Given the description of an element on the screen output the (x, y) to click on. 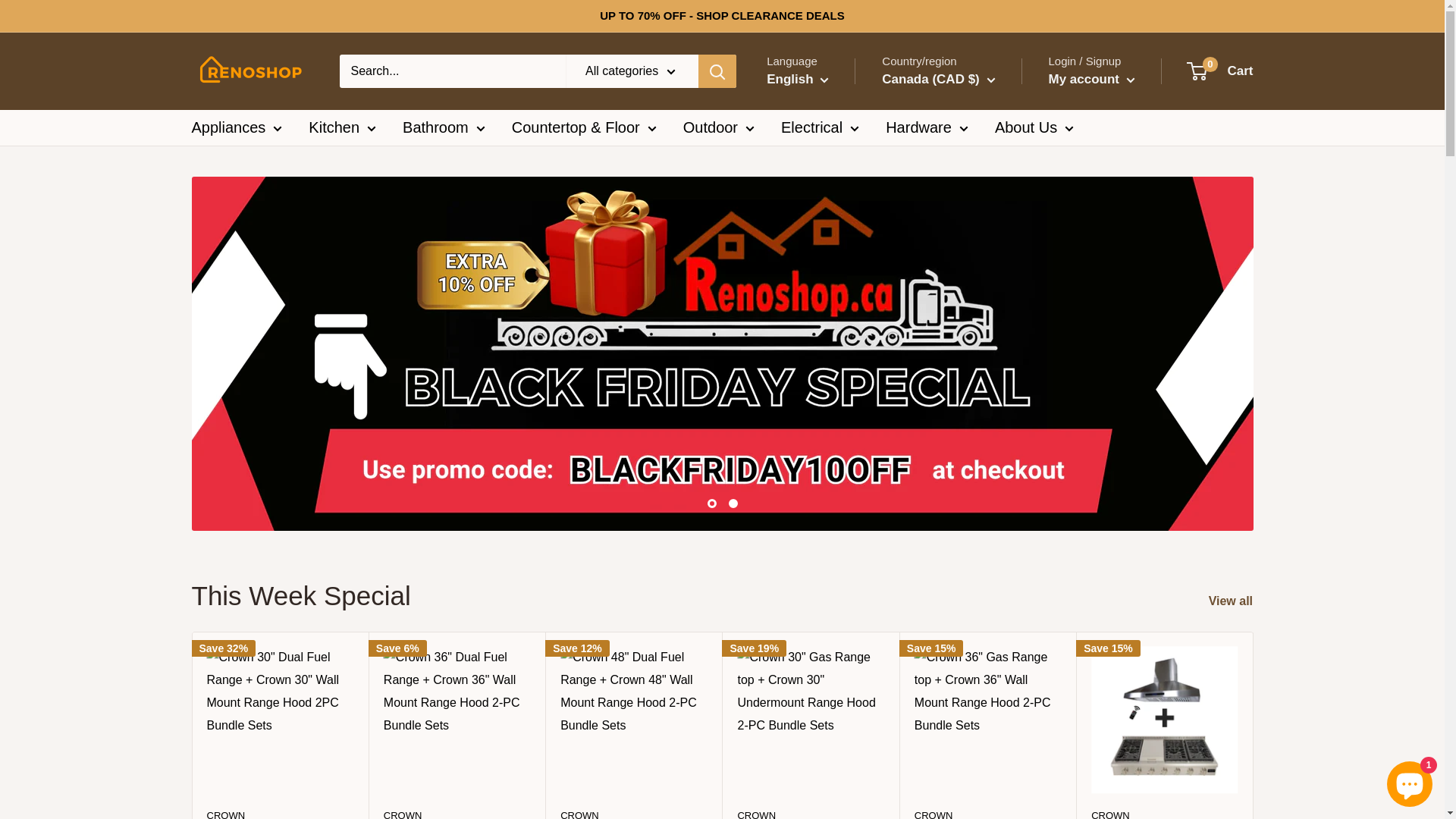
Countertop & Floor Element type: text (583, 127)
About Us Element type: text (1033, 127)
RenoShop Element type: text (249, 70)
View all Element type: text (1240, 600)
US Element type: text (944, 143)
Kitchen Element type: text (342, 127)
CA Element type: text (944, 120)
Electrical Element type: text (820, 127)
Canada (CAD $) Element type: text (937, 79)
My account Element type: text (1091, 79)
UP TO 70% OFF - SHOP CLEARANCE DEALS Element type: text (721, 15)
zh-CN Element type: text (810, 168)
Shopify online store chat Element type: hover (1409, 780)
Bathroom Element type: text (443, 127)
0
Cart Element type: text (1220, 71)
fr Element type: text (810, 145)
English Element type: text (797, 79)
Appliances Element type: text (236, 127)
Outdoor Element type: text (718, 127)
Hardware Element type: text (926, 127)
en Element type: text (810, 121)
